Given the description of an element on the screen output the (x, y) to click on. 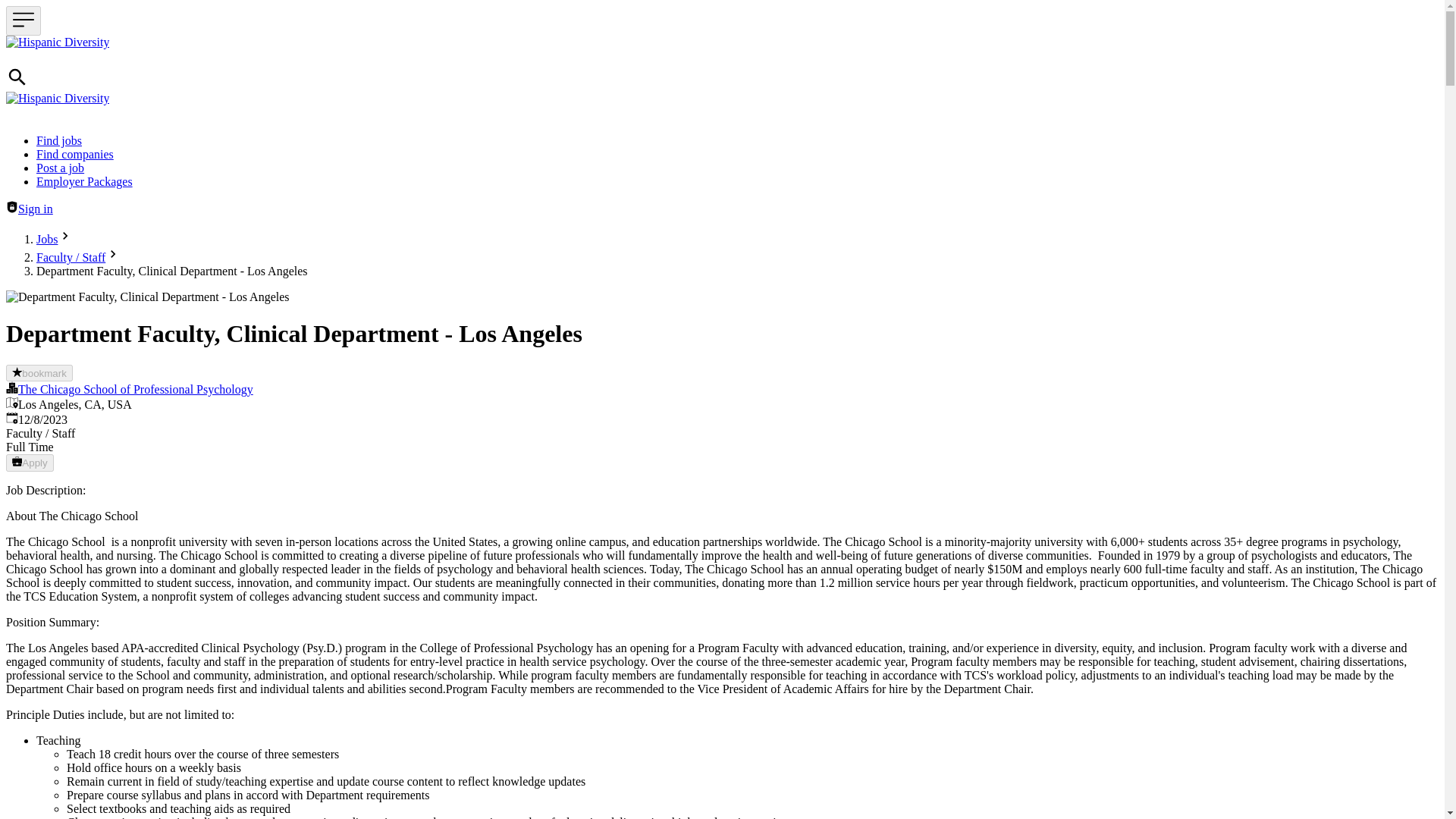
Menu (22, 19)
location (11, 402)
company (11, 387)
Post a job (60, 167)
Apply (29, 462)
Jobs (47, 238)
Sign inSign in (28, 208)
The Chicago School of Professional Psychology (135, 389)
Find jobs (58, 140)
bookmark (38, 372)
Department Faculty, Clinical Department - Los Angeles (147, 296)
Sign in (11, 206)
Employer Packages (84, 181)
Published (11, 417)
Menu (22, 20)
